Given the description of an element on the screen output the (x, y) to click on. 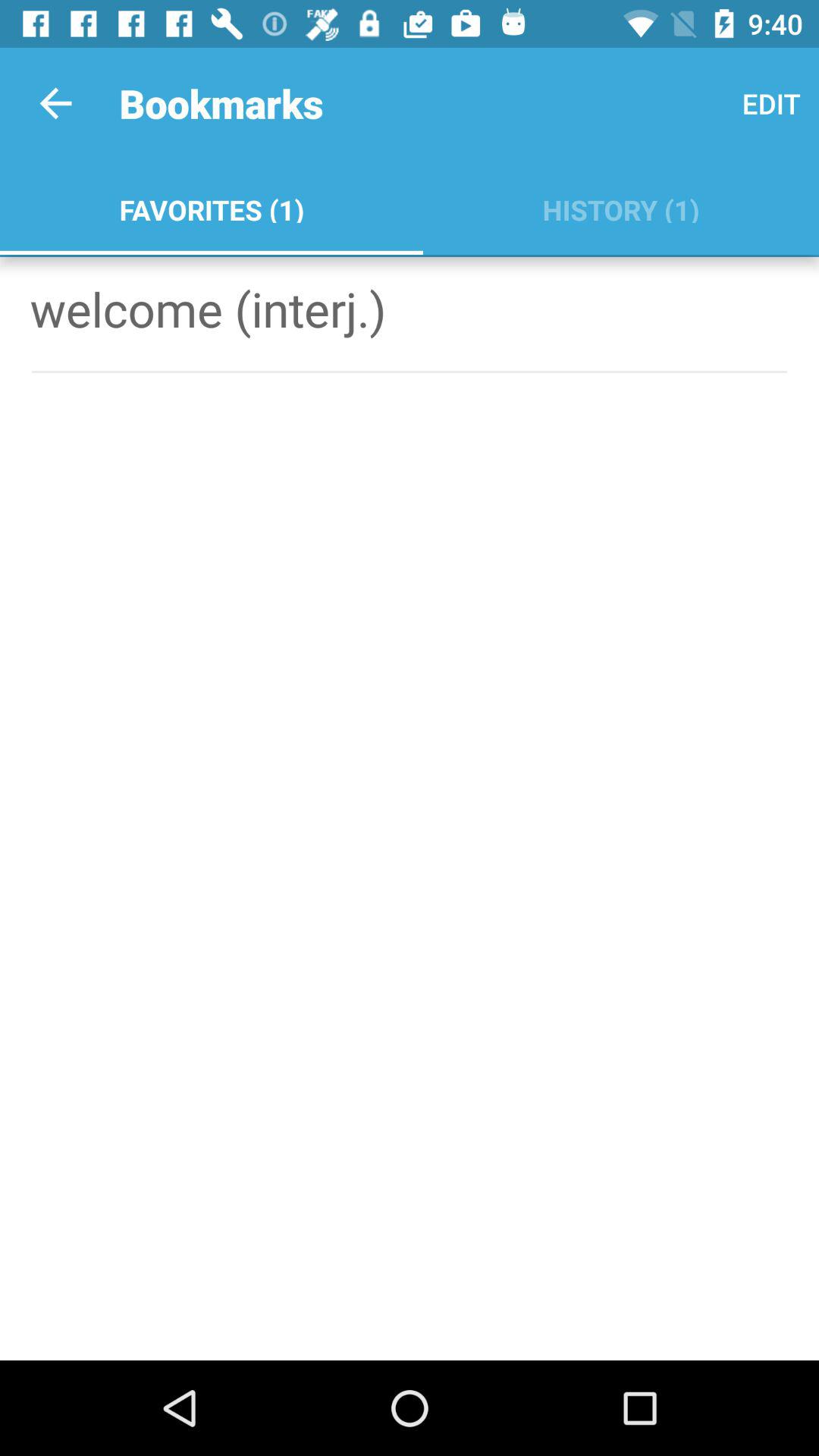
turn on item above the favorites (1) icon (55, 103)
